Given the description of an element on the screen output the (x, y) to click on. 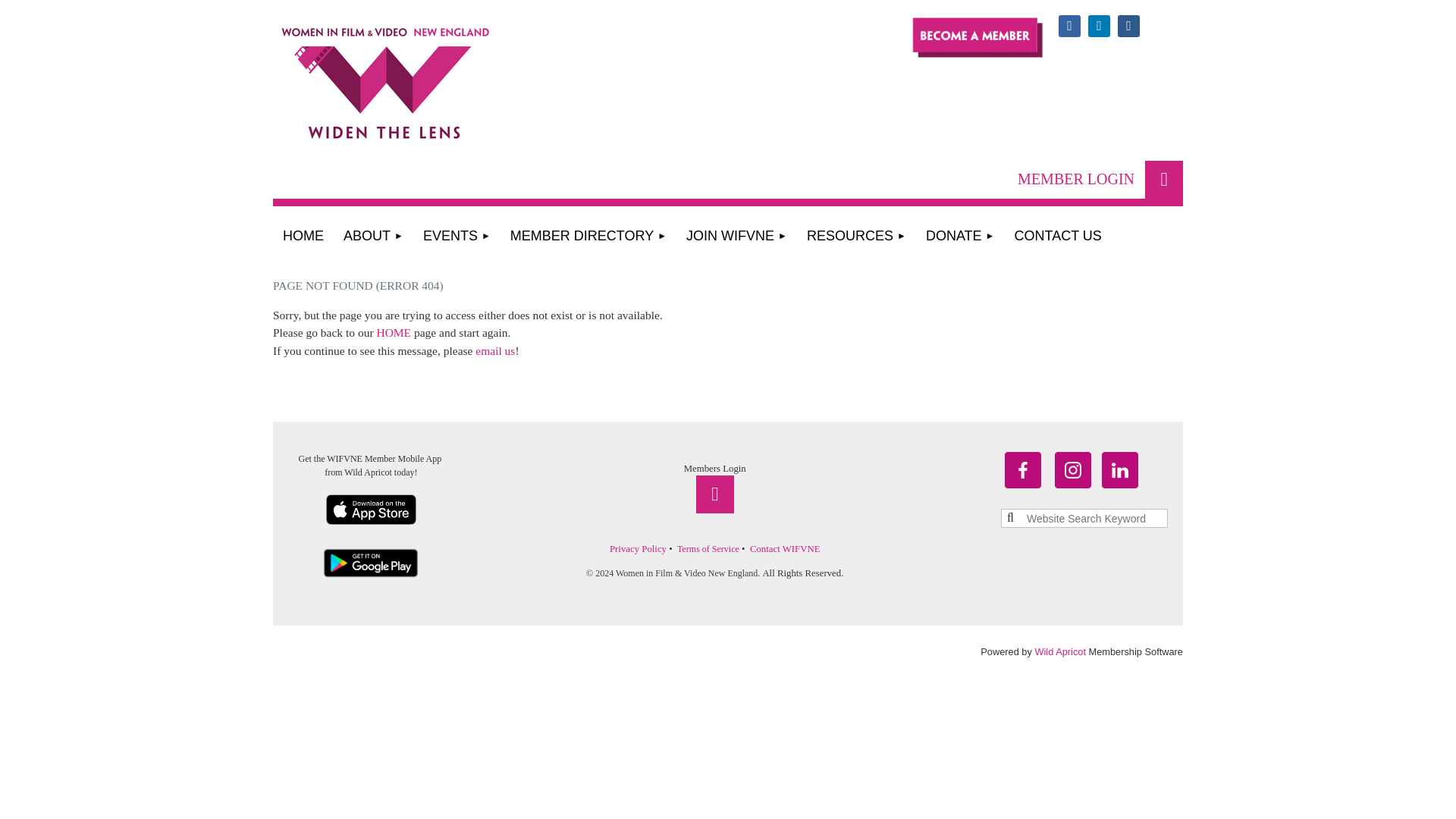
Women in Fitlm and Video - New England (424, 101)
ABOUT (373, 236)
HOME (303, 236)
Log in (1163, 179)
